Given the description of an element on the screen output the (x, y) to click on. 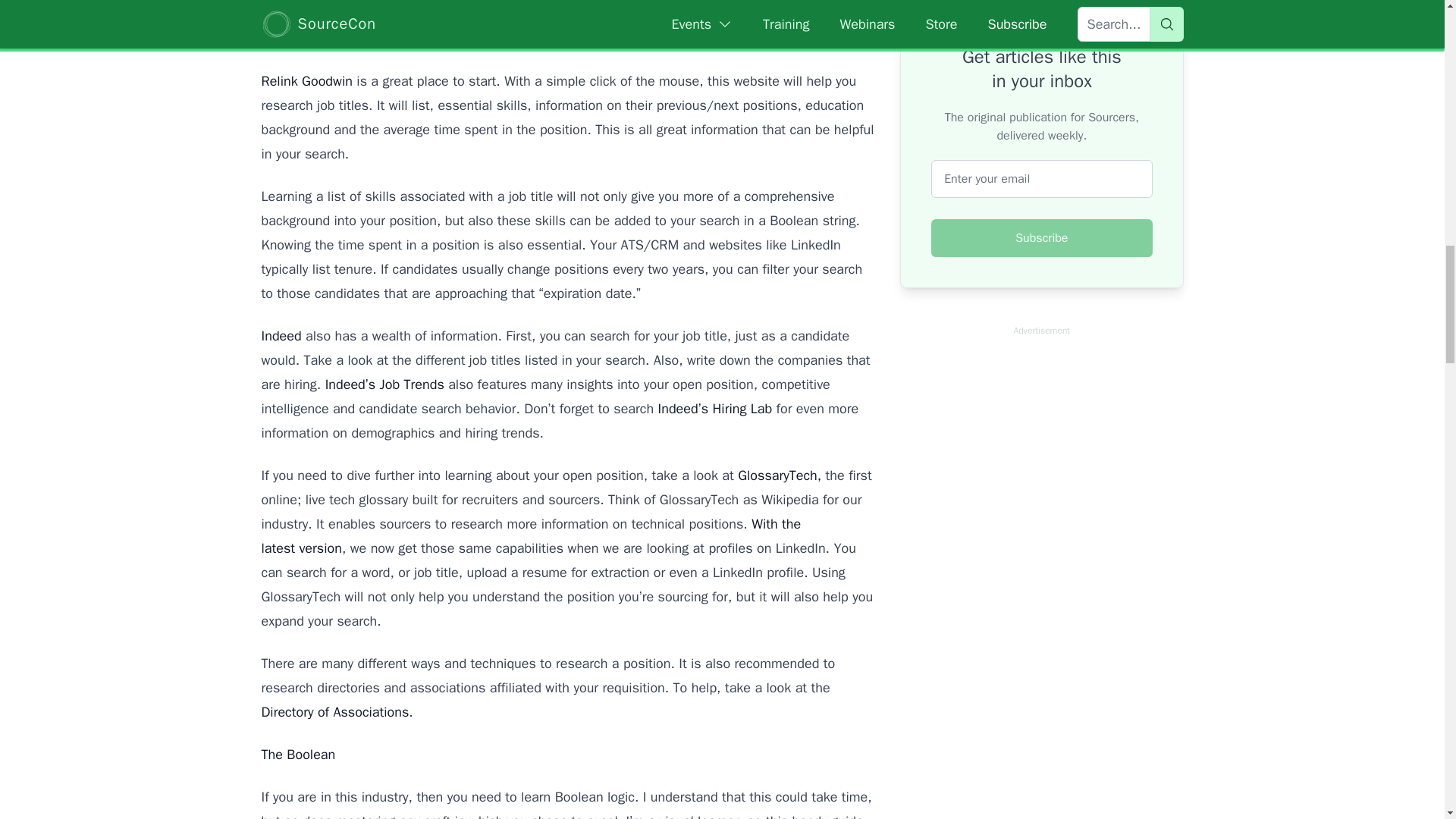
GlossaryTech,  (781, 475)
Indeed (280, 335)
Directory of Associations (334, 711)
Relink Goodwin (306, 80)
With the latest version (530, 535)
